Given the description of an element on the screen output the (x, y) to click on. 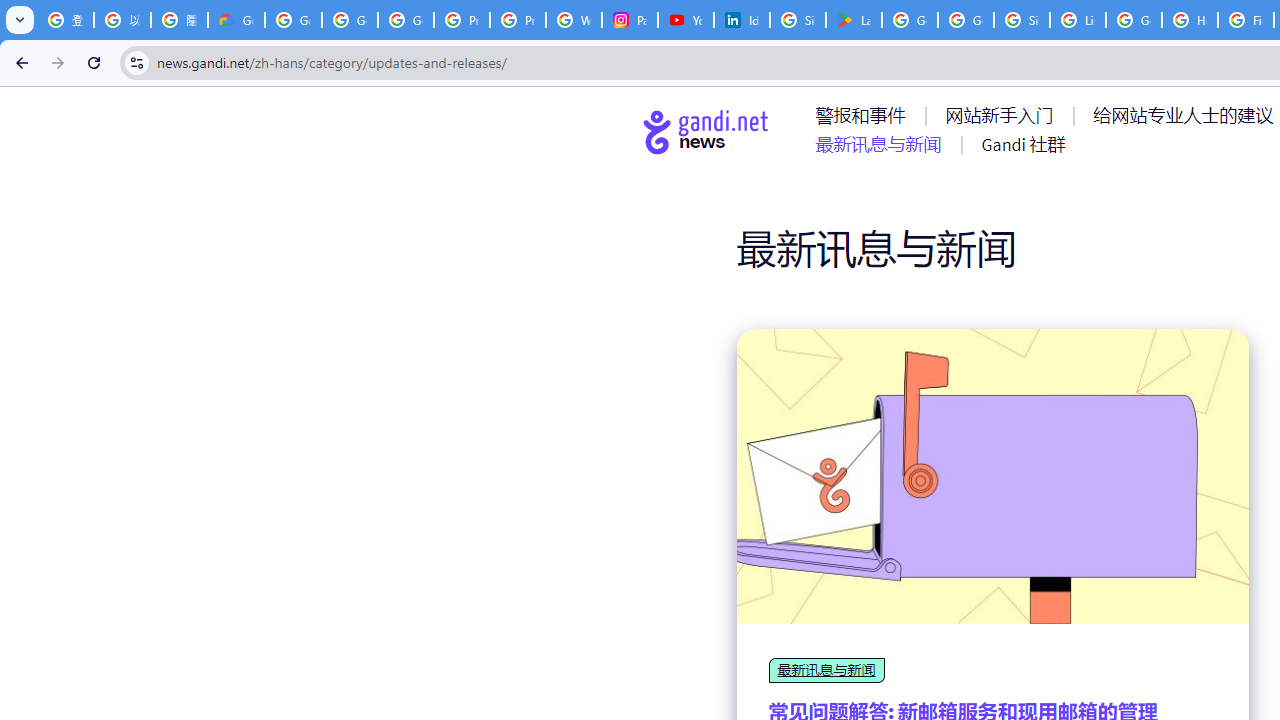
AutomationID: menu-item-77766 (882, 143)
Go to home (706, 131)
